Given the description of an element on the screen output the (x, y) to click on. 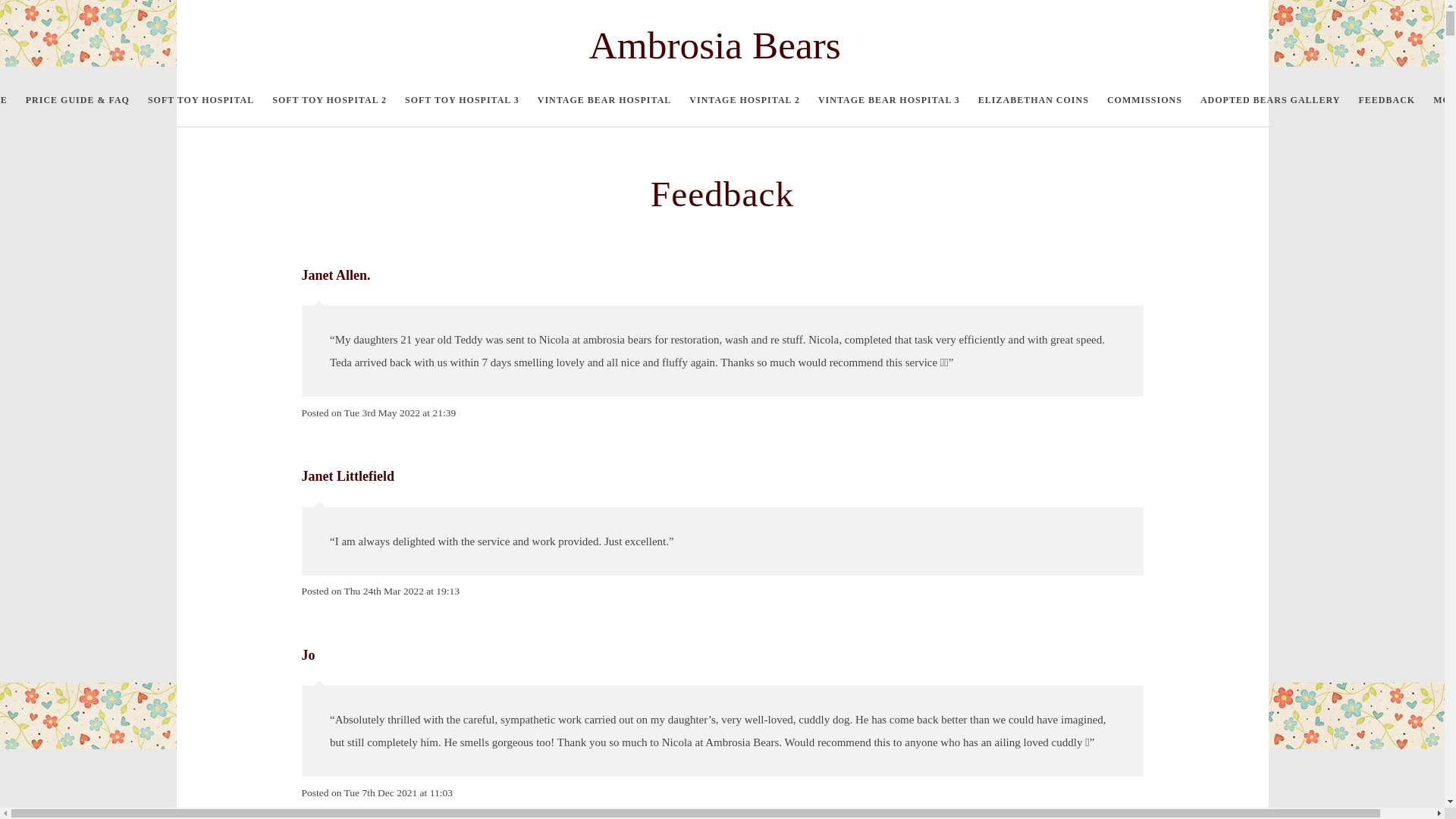
VINTAGE BEAR HOSPITAL 3 (889, 100)
VINTAGE BEAR HOSPITAL (604, 100)
MORE (1439, 100)
SOFT TOY HOSPITAL (200, 100)
ADOPTED BEARS GALLERY (1270, 100)
SOFT TOY HOSPITAL 2 (329, 100)
SOFT TOY HOSPITAL 3 (462, 100)
VINTAGE HOSPITAL 2 (744, 100)
ELIZABETHAN COINS (1033, 100)
Ambrosia Bears (721, 47)
